Given the description of an element on the screen output the (x, y) to click on. 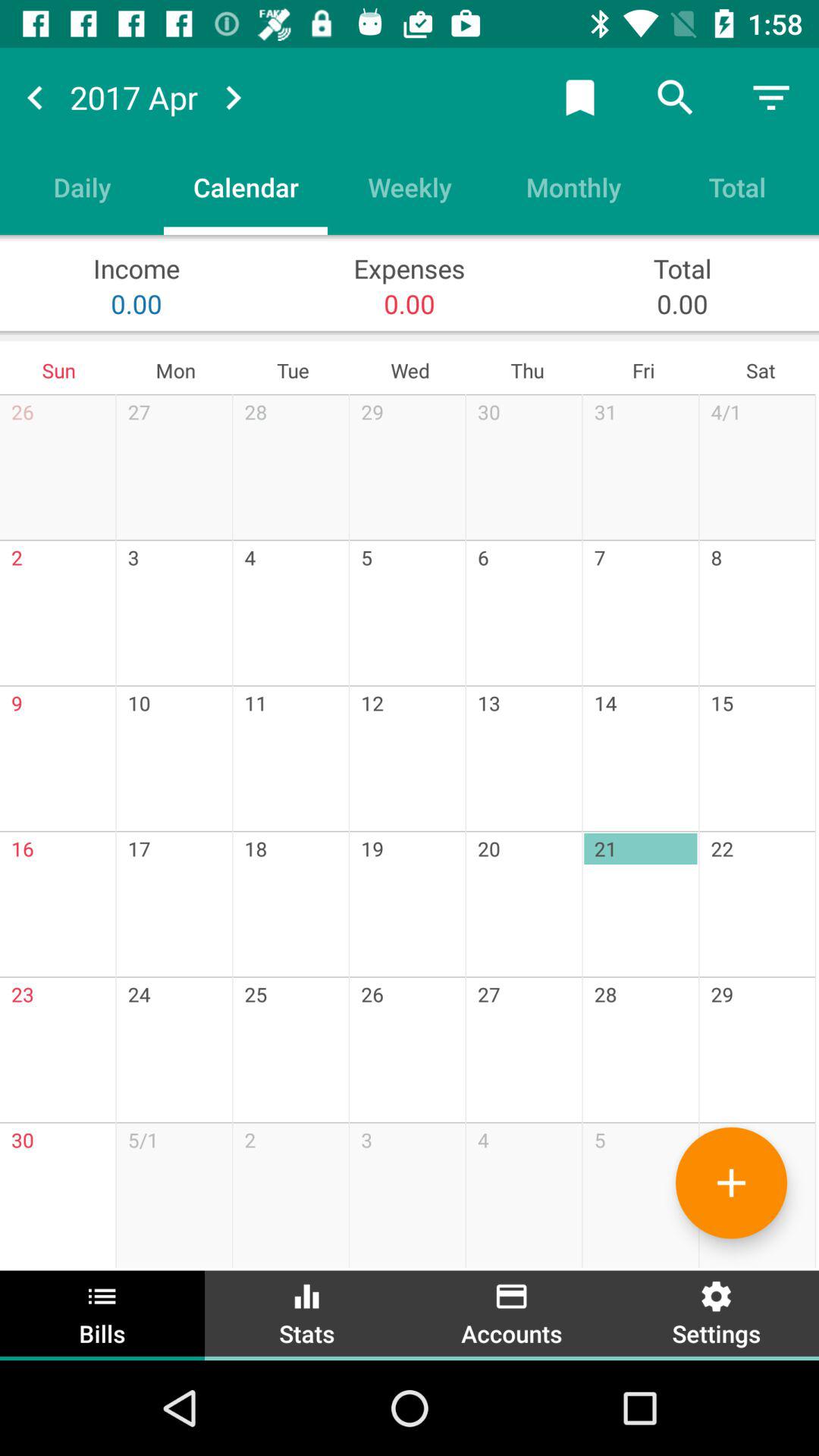
choose item next to the calendar item (81, 186)
